Given the description of an element on the screen output the (x, y) to click on. 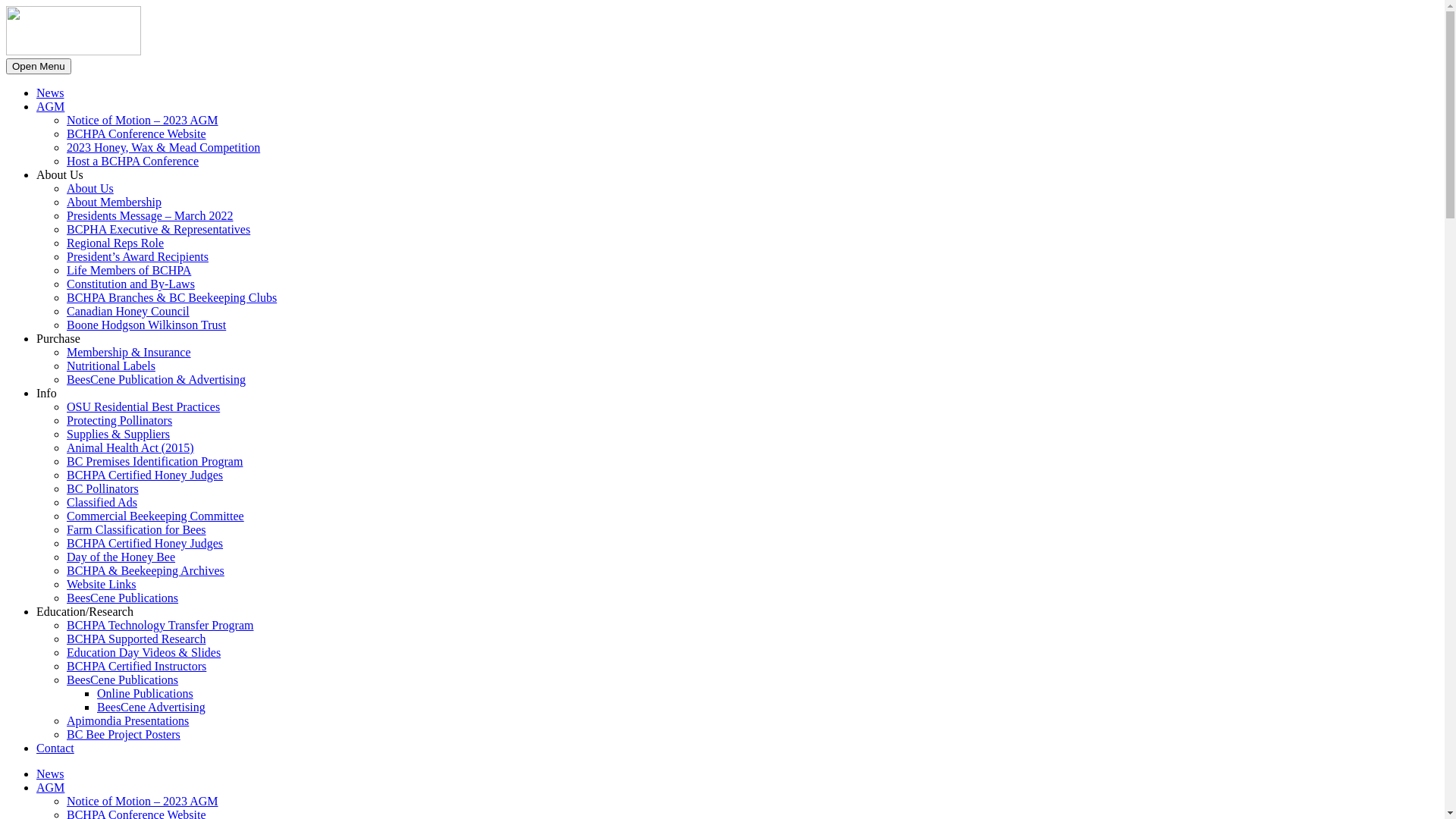
BeesCene Publications Element type: text (122, 679)
BCHPA Technology Transfer Program Element type: text (159, 624)
AGM Element type: text (50, 106)
BCHPA Certified Honey Judges Element type: text (144, 474)
About Us Element type: text (89, 188)
Supplies & Suppliers Element type: text (117, 433)
OSU Residential Best Practices Element type: text (142, 406)
BeesCene Publication & Advertising Element type: text (155, 379)
BCHPA Branches & BC Beekeeping Clubs Element type: text (171, 297)
Classified Ads Element type: text (101, 501)
BC Bee Project Posters Element type: text (123, 734)
Canadian Honey Council Element type: text (127, 310)
Regional Reps Role Element type: text (114, 242)
Life Members of BCHPA Element type: text (128, 269)
Commercial Beekeeping Committee Element type: text (155, 515)
Membership & Insurance Element type: text (128, 351)
News Element type: text (49, 92)
Online Publications Element type: text (145, 693)
BCHPA Conference Website Element type: text (136, 133)
Info Element type: text (46, 392)
BC Premises Identification Program Element type: text (154, 461)
2023 Honey, Wax & Mead Competition Element type: text (163, 147)
About Membership Element type: text (113, 201)
Boone Hodgson Wilkinson Trust Element type: text (145, 324)
Contact Element type: text (55, 747)
BeesCene Advertising Element type: text (151, 706)
BCHPA Supported Research Element type: text (135, 638)
Education/Research Element type: text (84, 611)
BCHPA Certified Honey Judges Element type: text (144, 542)
Education Day Videos & Slides Element type: text (143, 652)
AGM Element type: text (50, 787)
BC Pollinators Element type: text (102, 488)
News Element type: text (49, 773)
BCHPA & Beekeeping Archives Element type: text (145, 570)
BCHPA Certified Instructors Element type: text (136, 665)
Constitution and By-Laws Element type: text (130, 283)
Website Links Element type: text (101, 583)
Day of the Honey Bee Element type: text (120, 556)
Farm Classification for Bees Element type: text (136, 529)
Open Menu Element type: text (38, 66)
Animal Health Act (2015) Element type: text (130, 447)
Apimondia Presentations Element type: text (127, 720)
Protecting Pollinators Element type: text (119, 420)
BeesCene Publications Element type: text (122, 597)
BCPHA Executive & Representatives Element type: text (158, 228)
Host a BCHPA Conference Element type: text (132, 160)
About Us Element type: text (59, 174)
Purchase Element type: text (58, 338)
Nutritional Labels Element type: text (110, 365)
